Given the description of an element on the screen output the (x, y) to click on. 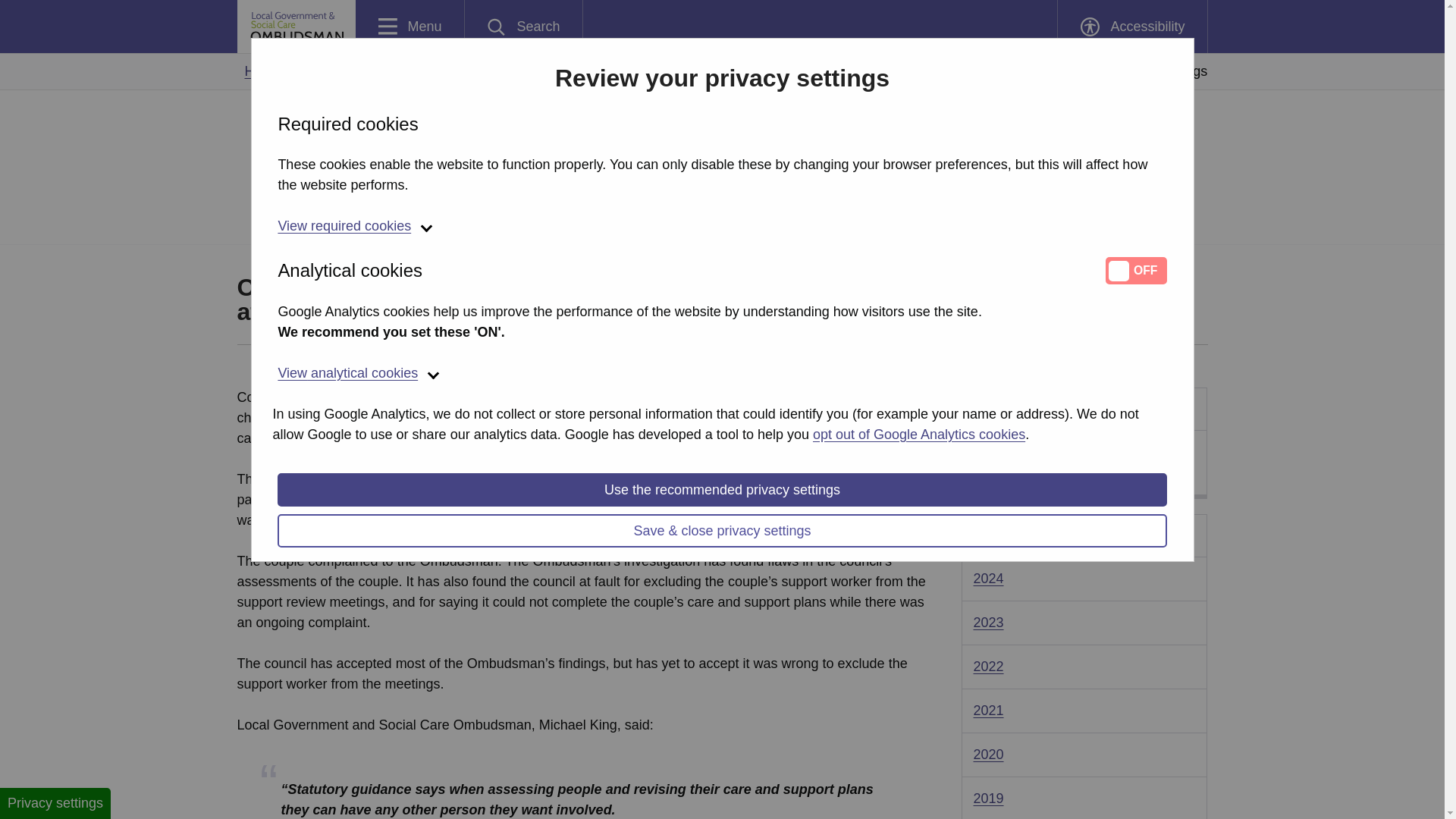
View analytical cookies (722, 374)
View required cookies (722, 226)
Use the recommended privacy settings (722, 489)
Accessibility (409, 26)
opt out of Google Analytics cookies (1132, 26)
